Given the description of an element on the screen output the (x, y) to click on. 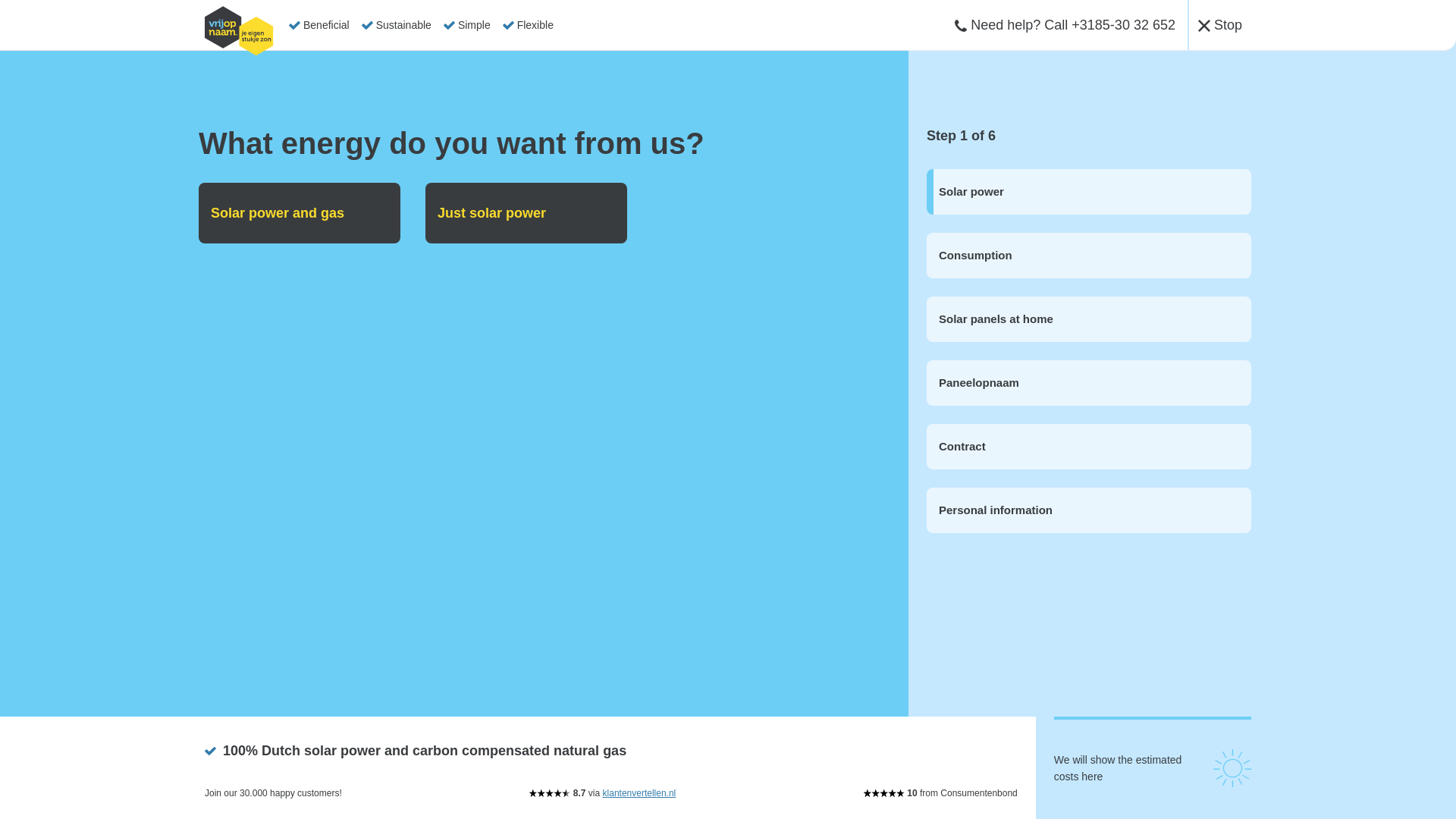
Solar power and gas (299, 212)
Stop (1219, 24)
Just solar power (526, 212)
klantenvertellen.nl (639, 792)
